Given the description of an element on the screen output the (x, y) to click on. 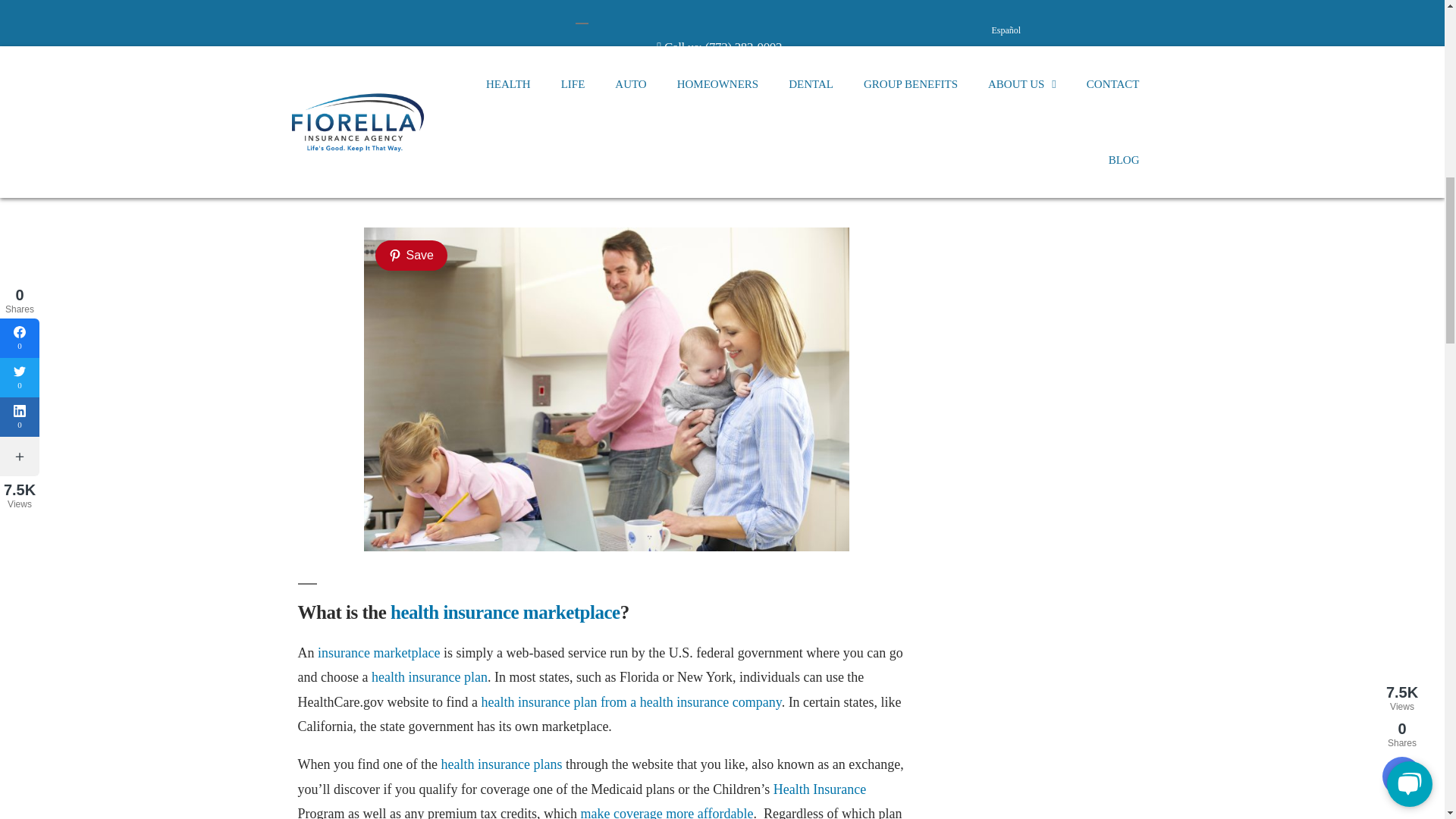
marketplace (787, 63)
health insurance plan (429, 676)
Health Insurance (819, 789)
